Given the description of an element on the screen output the (x, y) to click on. 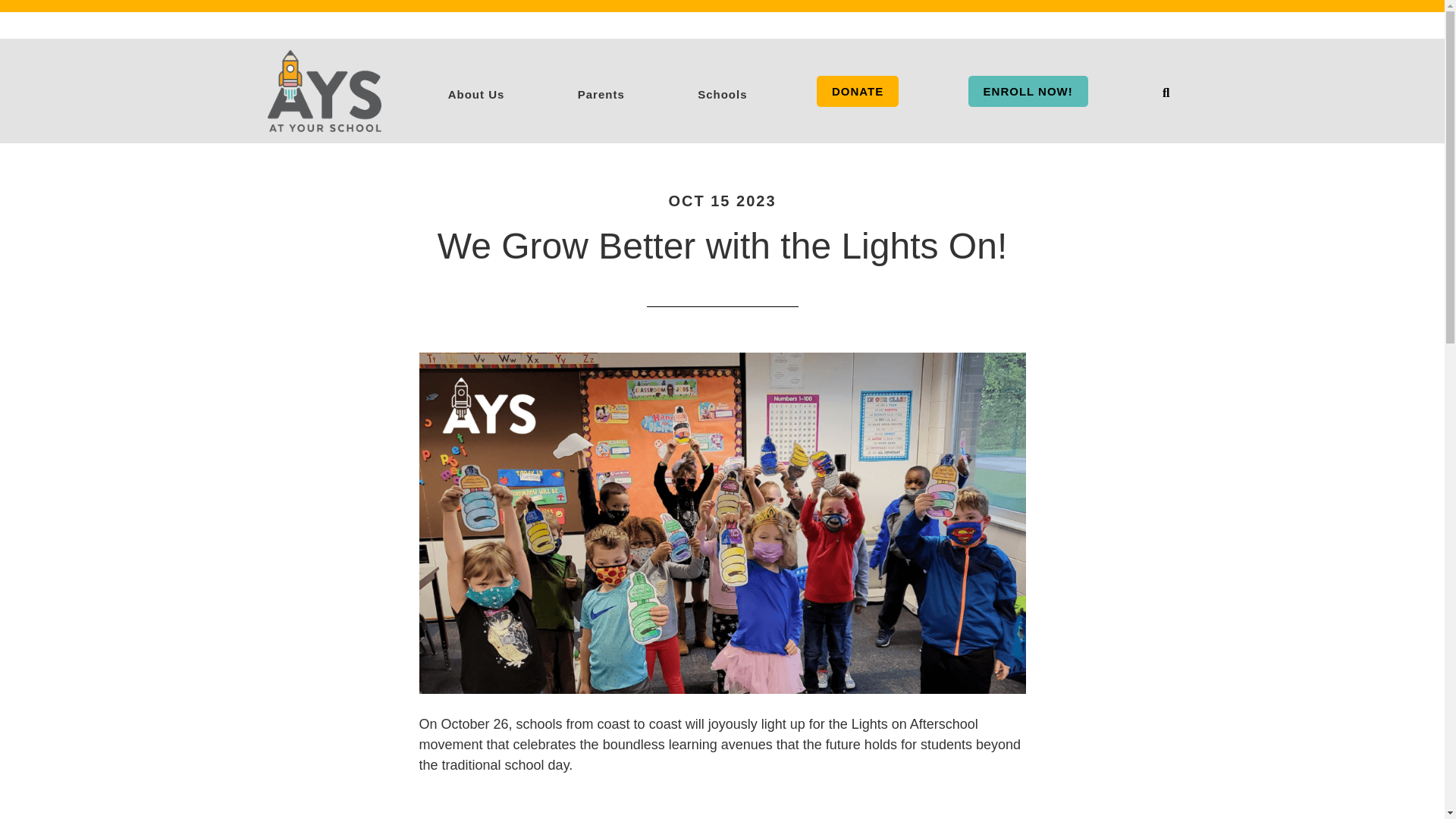
AYS, INC. (323, 90)
About Us (476, 90)
Search (1165, 92)
Parents (600, 90)
